Given the description of an element on the screen output the (x, y) to click on. 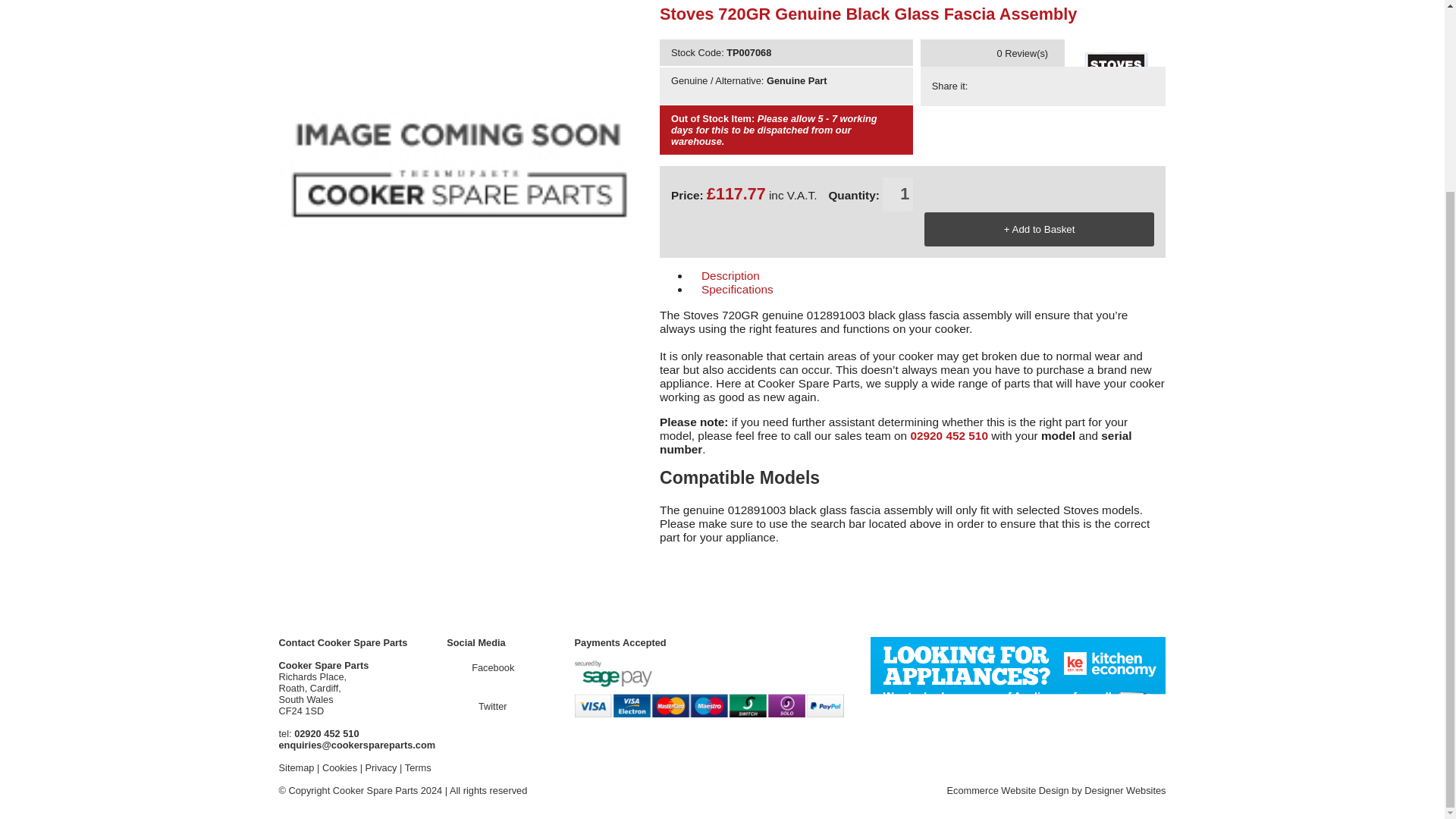
Ecommerce Website Design (1007, 790)
Terms (417, 767)
Cookies (338, 767)
Twitter (479, 706)
Sitemap (296, 767)
call us today on 02920 452 510 (326, 733)
Stoves 720GR Genuine Black Glass Fascia Assembly (963, 52)
Description (809, 275)
02920 452 510 (326, 733)
02920 452 510 (949, 435)
